Given the description of an element on the screen output the (x, y) to click on. 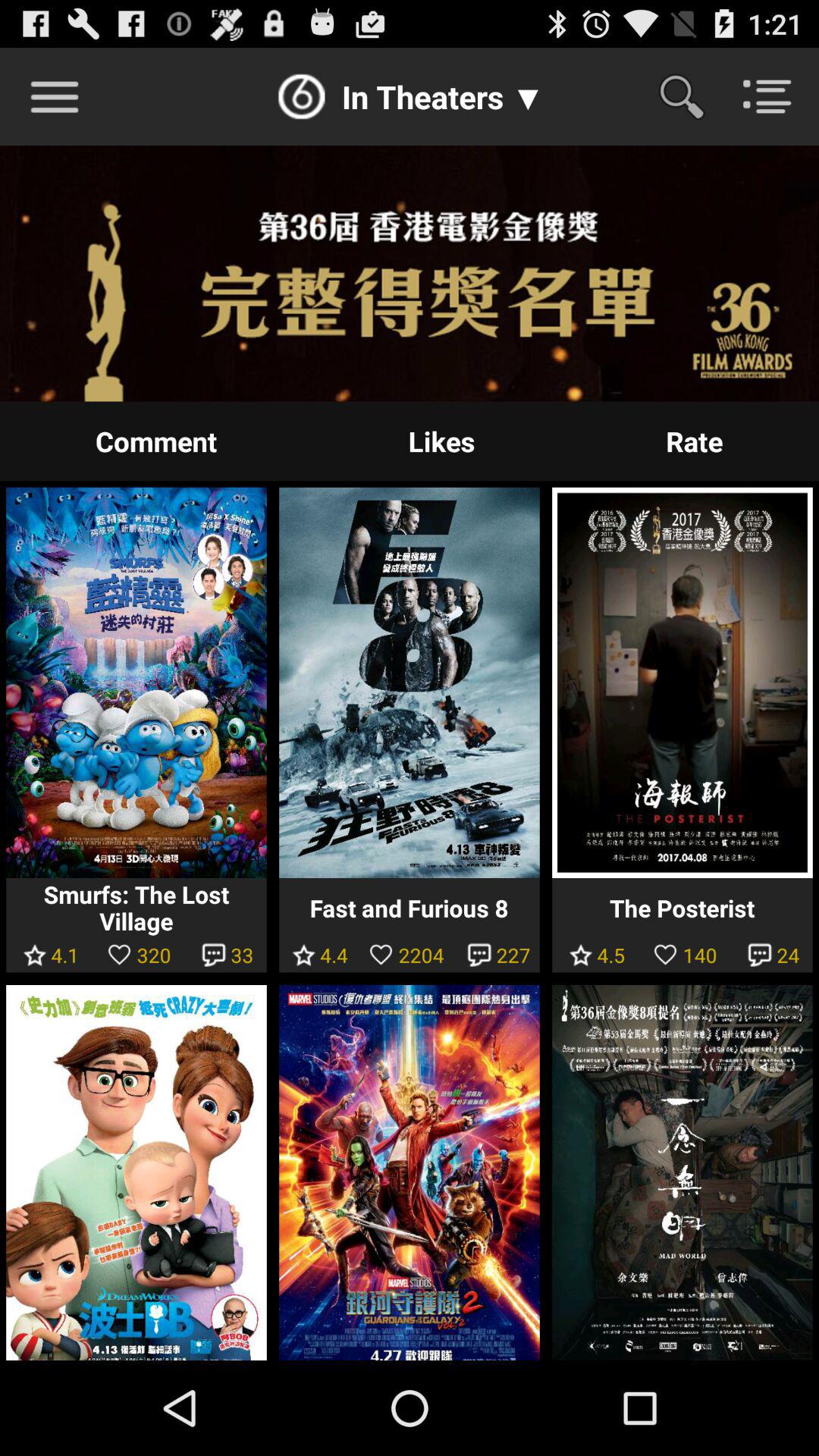
search for a movie (691, 96)
